Given the description of an element on the screen output the (x, y) to click on. 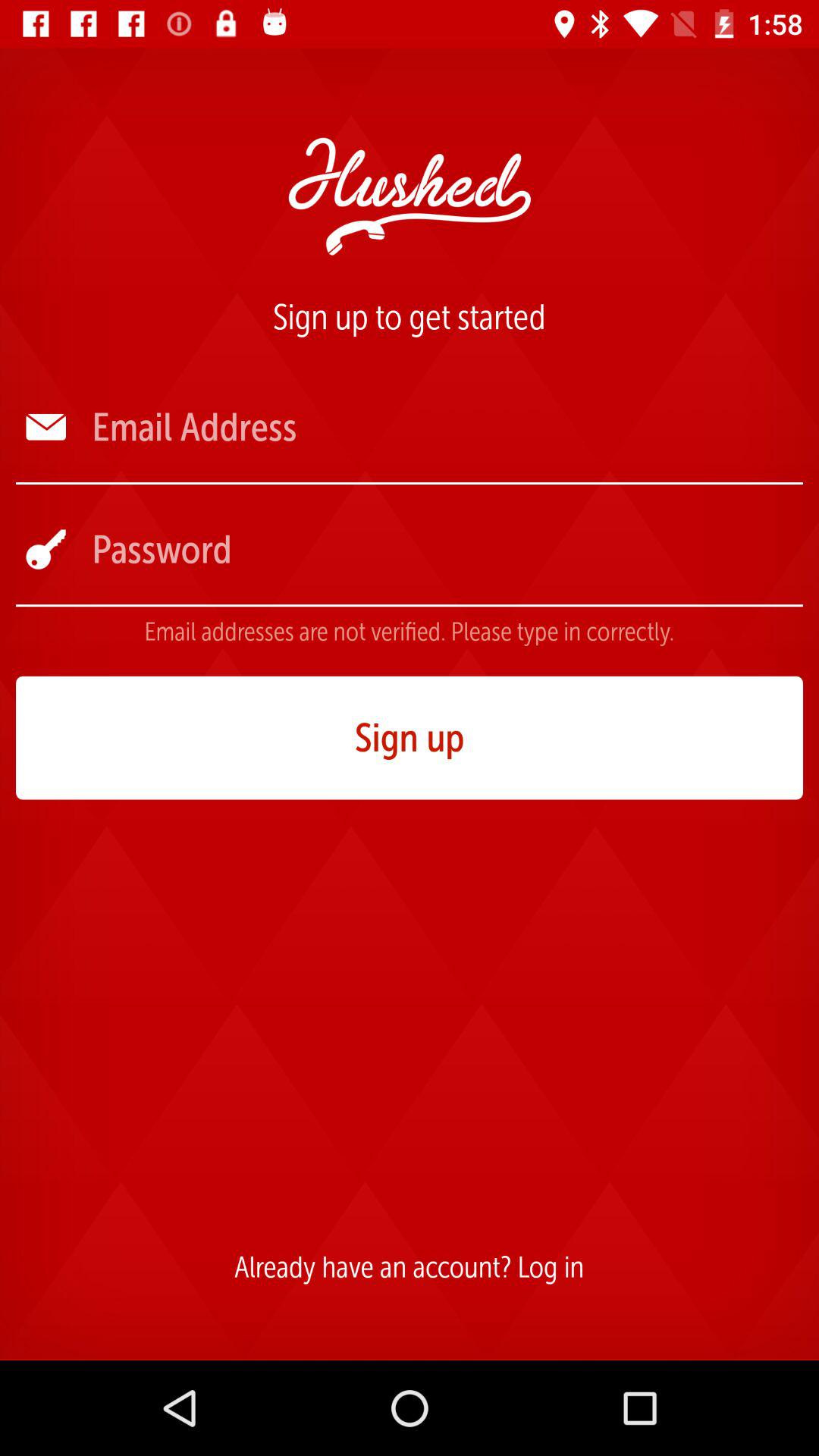
go to password (446, 549)
